Given the description of an element on the screen output the (x, y) to click on. 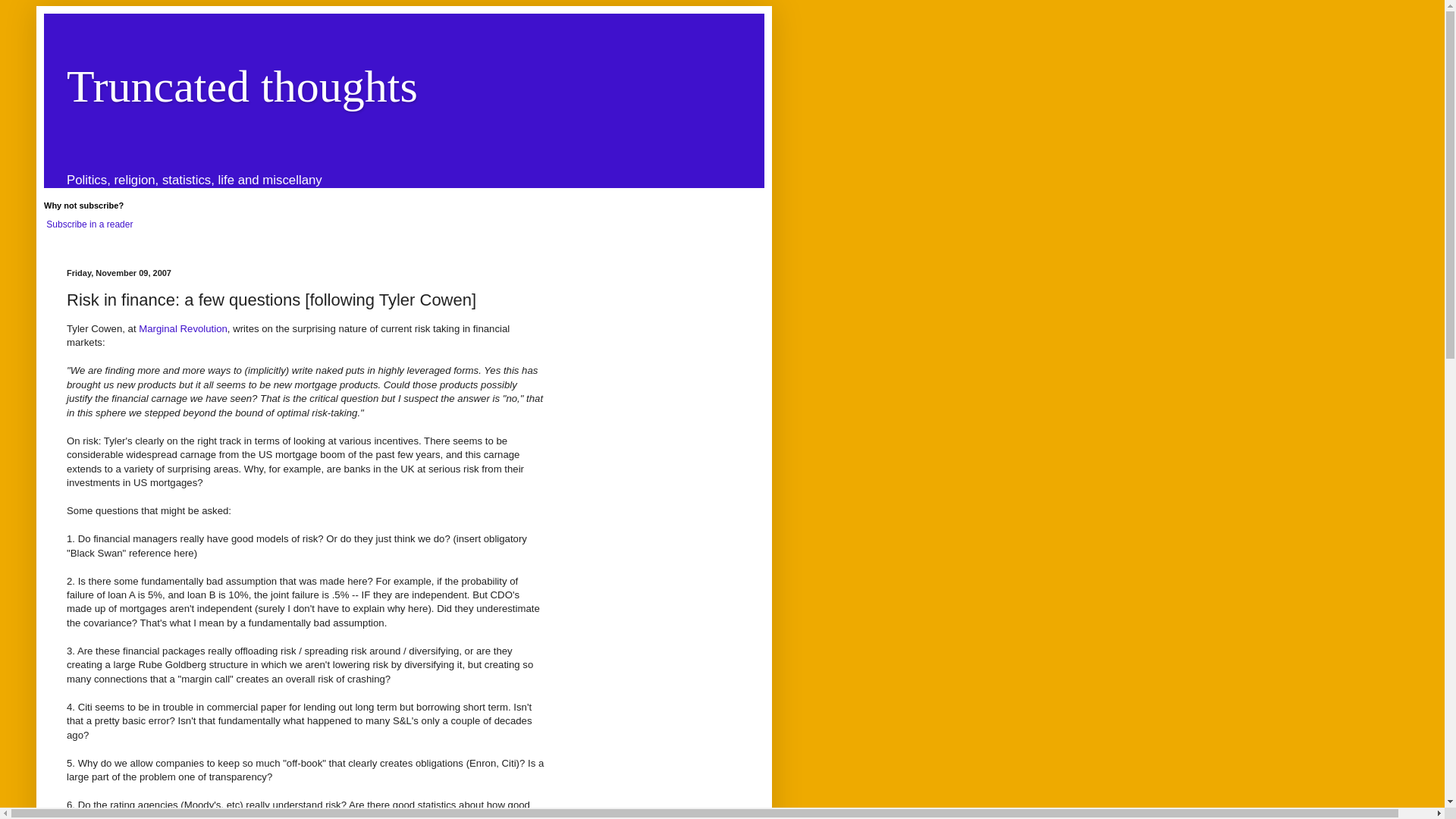
Truncated thoughts (241, 86)
Subscribe in a reader (89, 224)
Marginal Revolution (182, 328)
